Given the description of an element on the screen output the (x, y) to click on. 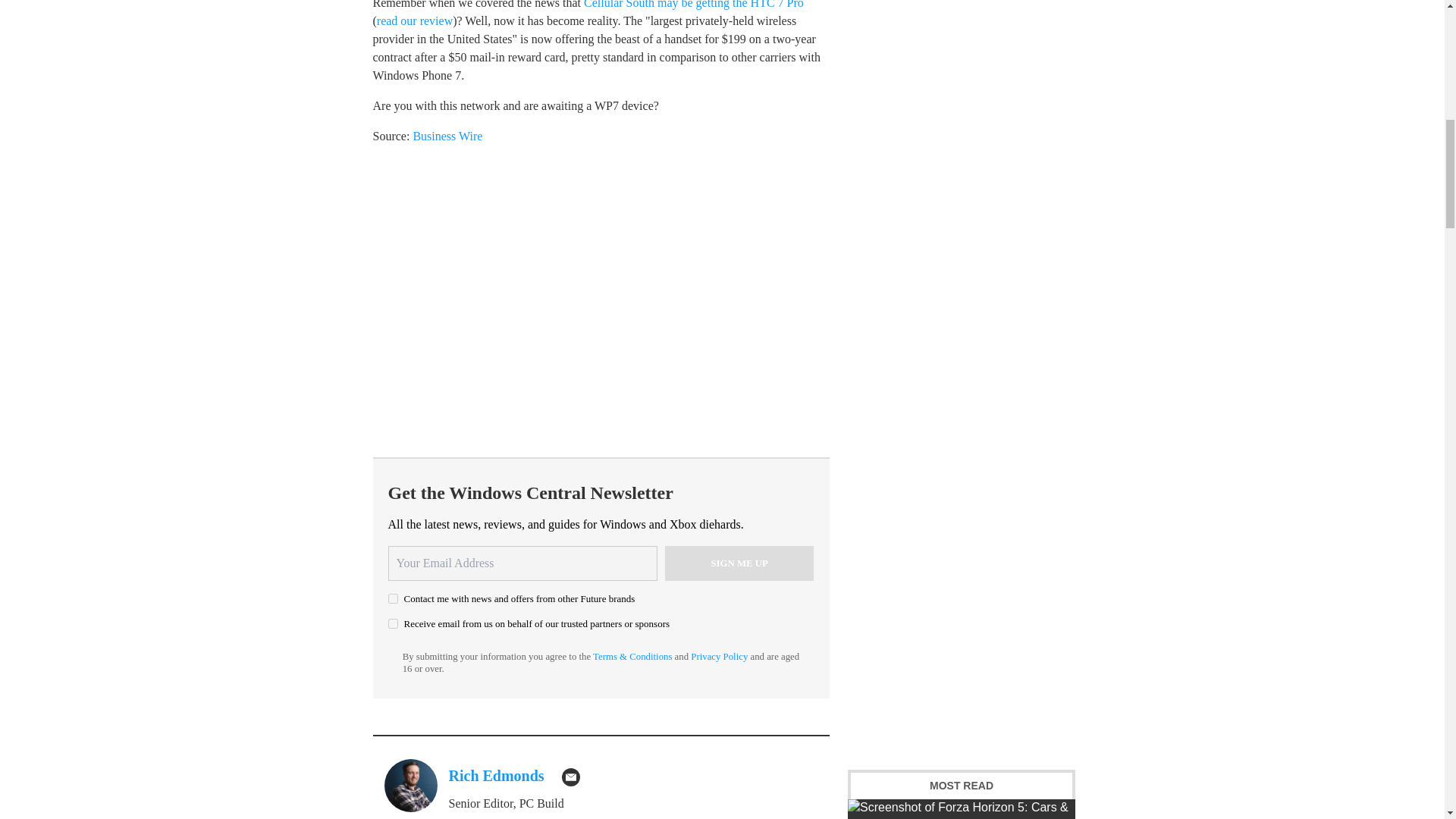
Sign me up (739, 563)
Cellular South may be getting the HTC 7 Pro (693, 4)
Sign me up (739, 563)
read our review (414, 20)
Privacy Policy (719, 656)
Business Wire (446, 135)
Rich Edmonds (496, 775)
